Given the description of an element on the screen output the (x, y) to click on. 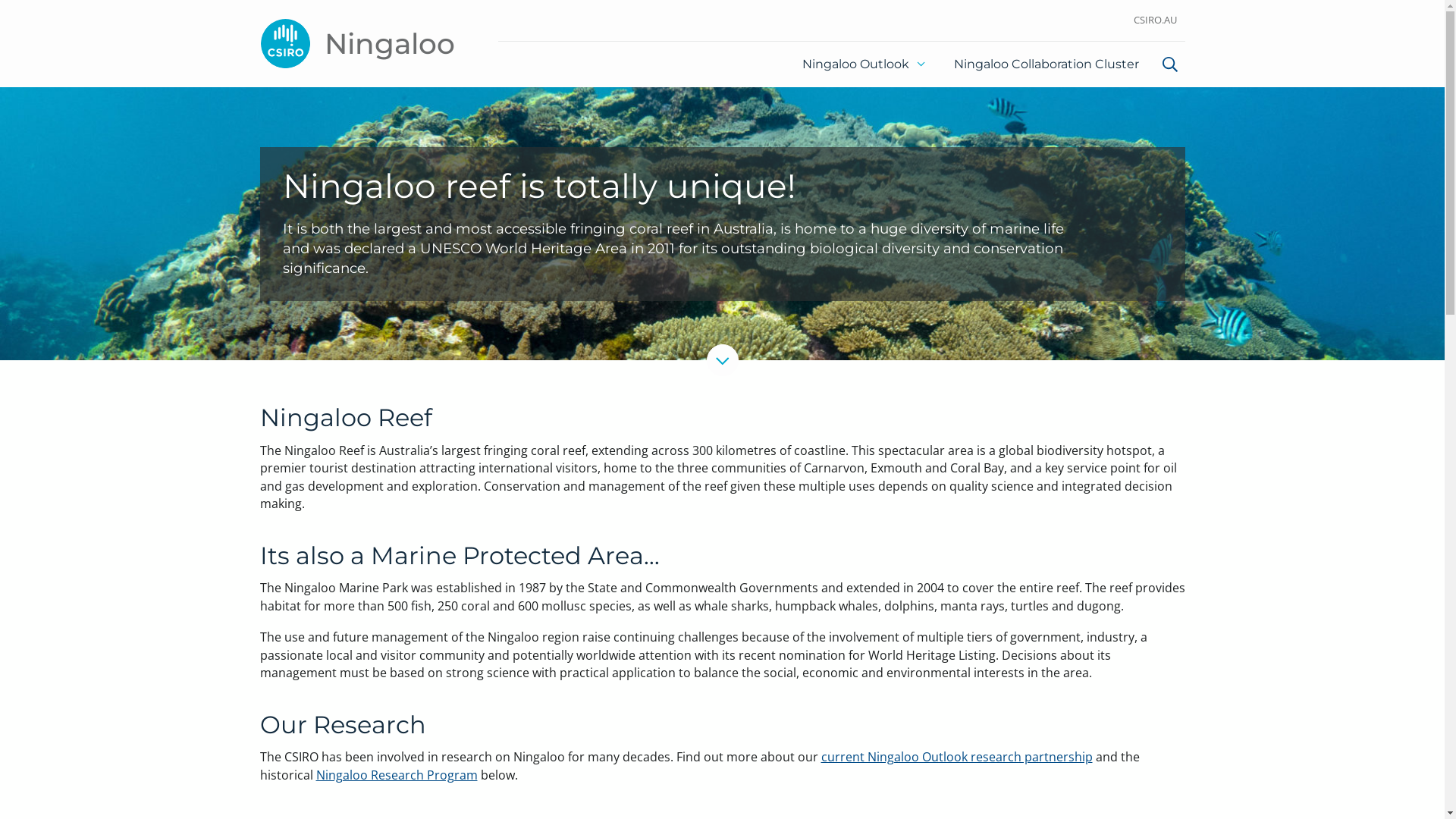
Ningaloo Research Program Element type: text (395, 774)
Ningaloo Collaboration Cluster Element type: text (1046, 64)
current Ningaloo Outlook research partnership Element type: text (956, 756)
CSIRO.AU Element type: text (1155, 20)
Ningaloo Element type: text (356, 43)
Ningaloo Outlook Element type: text (864, 64)
